Given the description of an element on the screen output the (x, y) to click on. 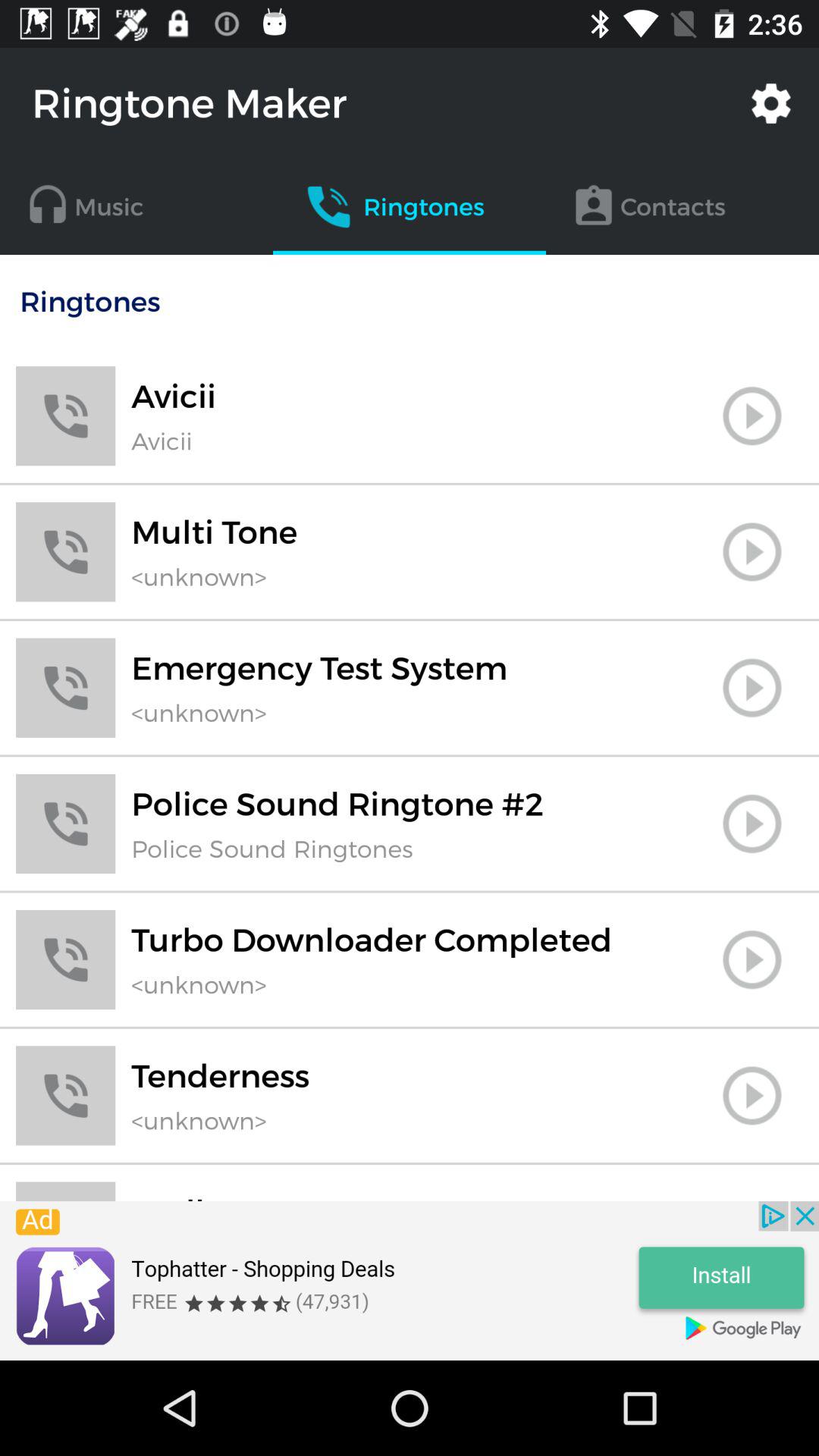
advert pop up (409, 1280)
